Given the description of an element on the screen output the (x, y) to click on. 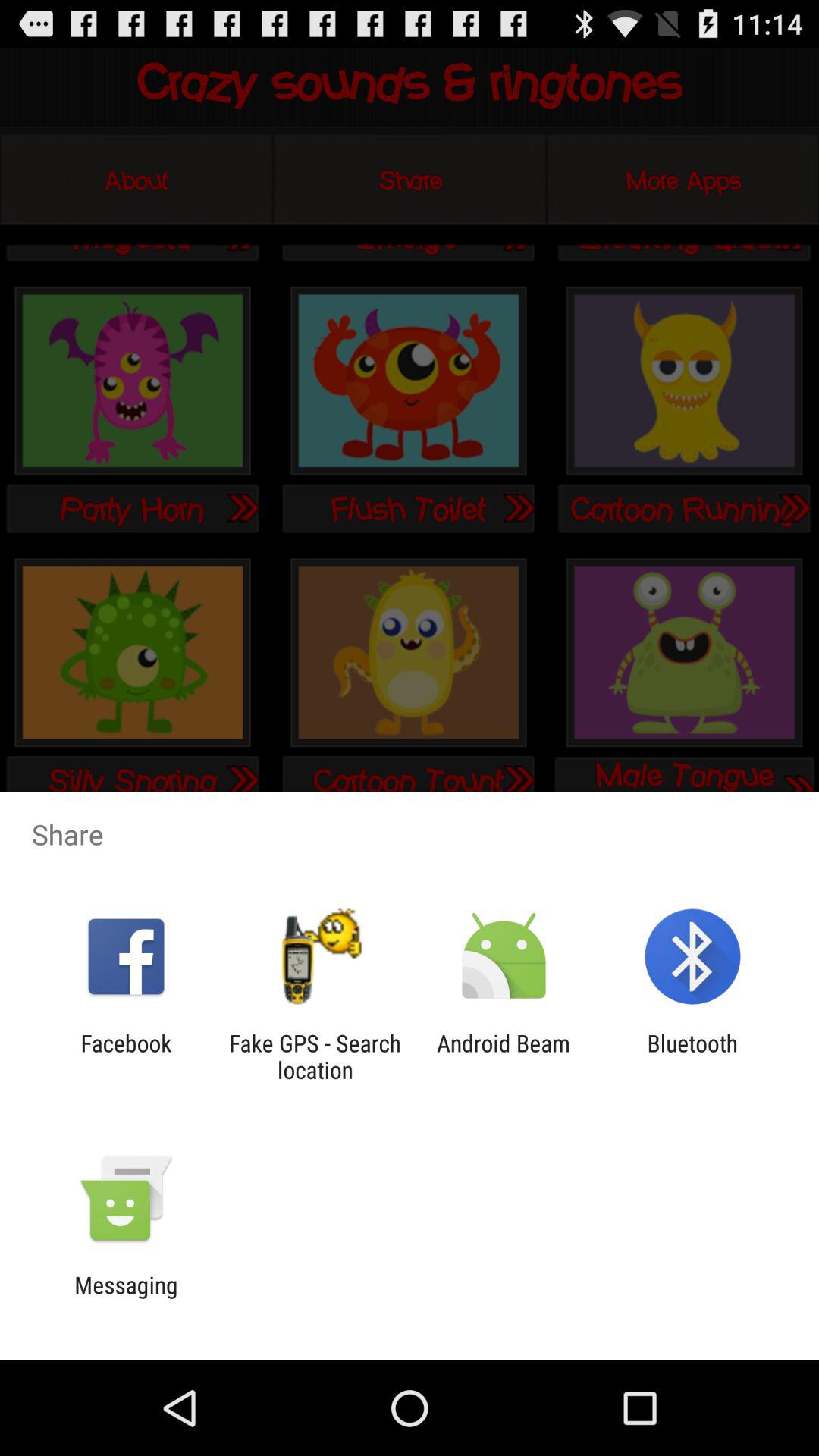
swipe to the bluetooth app (692, 1056)
